Given the description of an element on the screen output the (x, y) to click on. 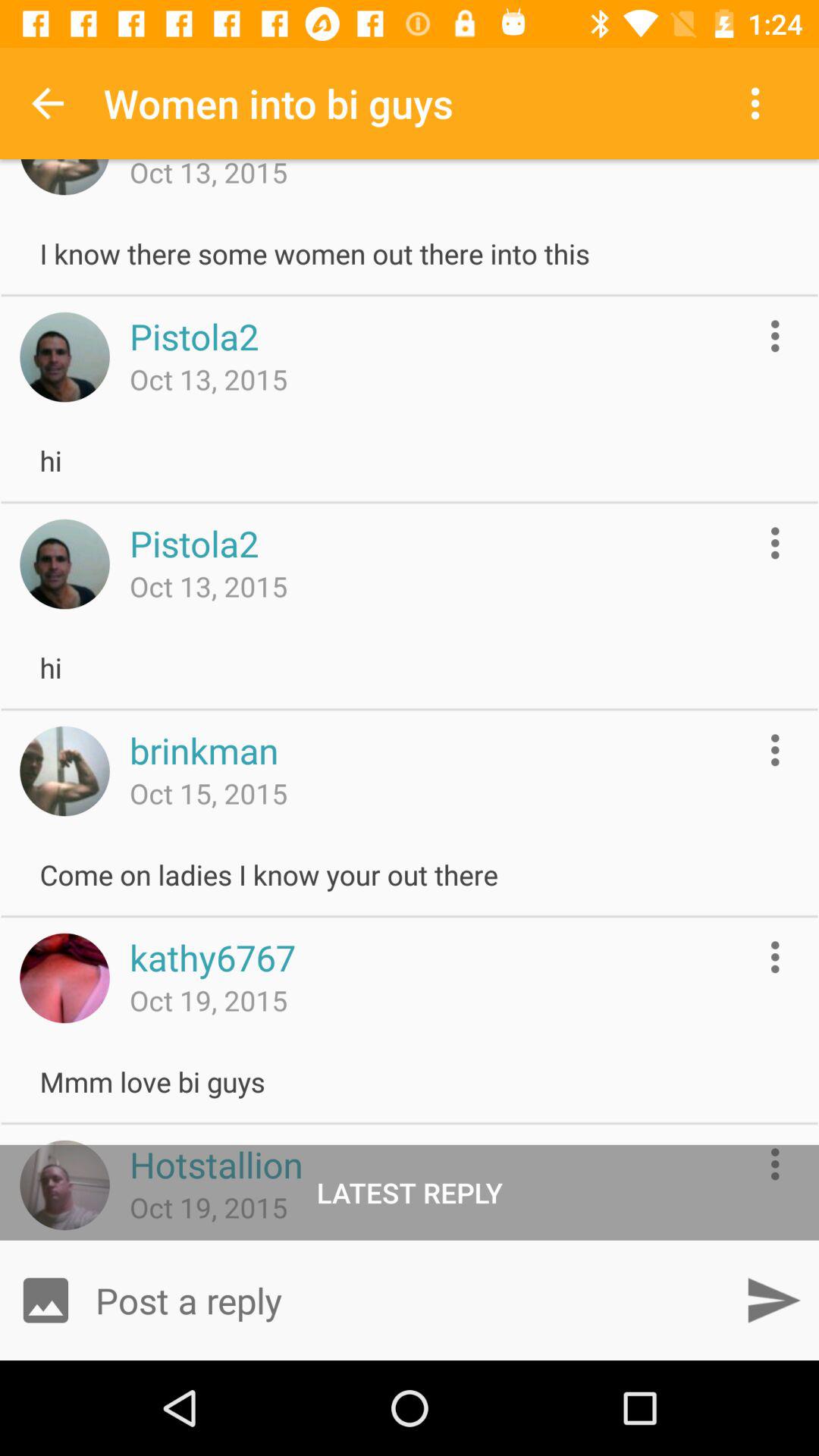
press the item below the latest reply icon (409, 1300)
